Given the description of an element on the screen output the (x, y) to click on. 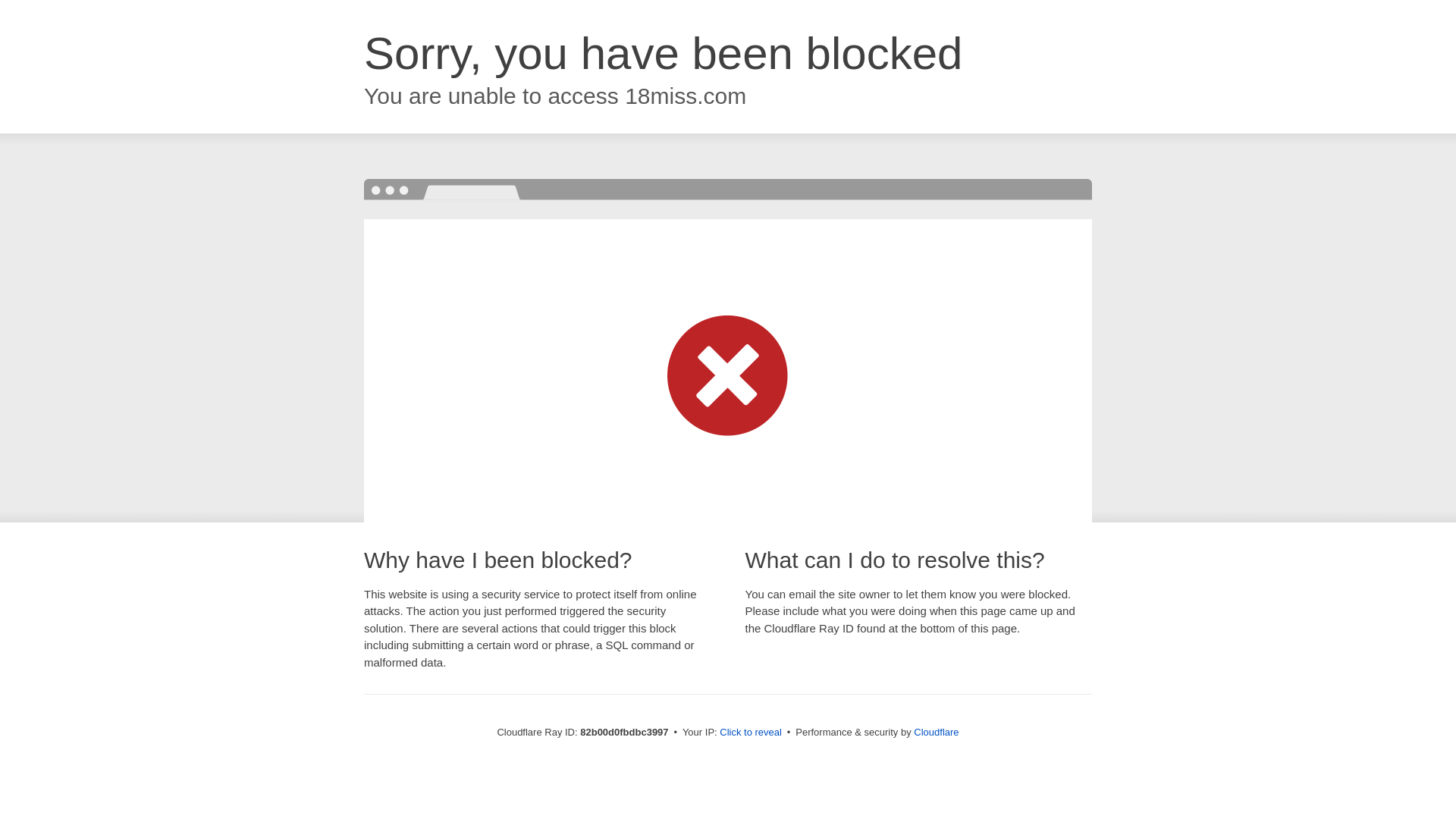
Click to reveal Element type: text (750, 732)
Cloudflare Element type: text (935, 731)
